Given the description of an element on the screen output the (x, y) to click on. 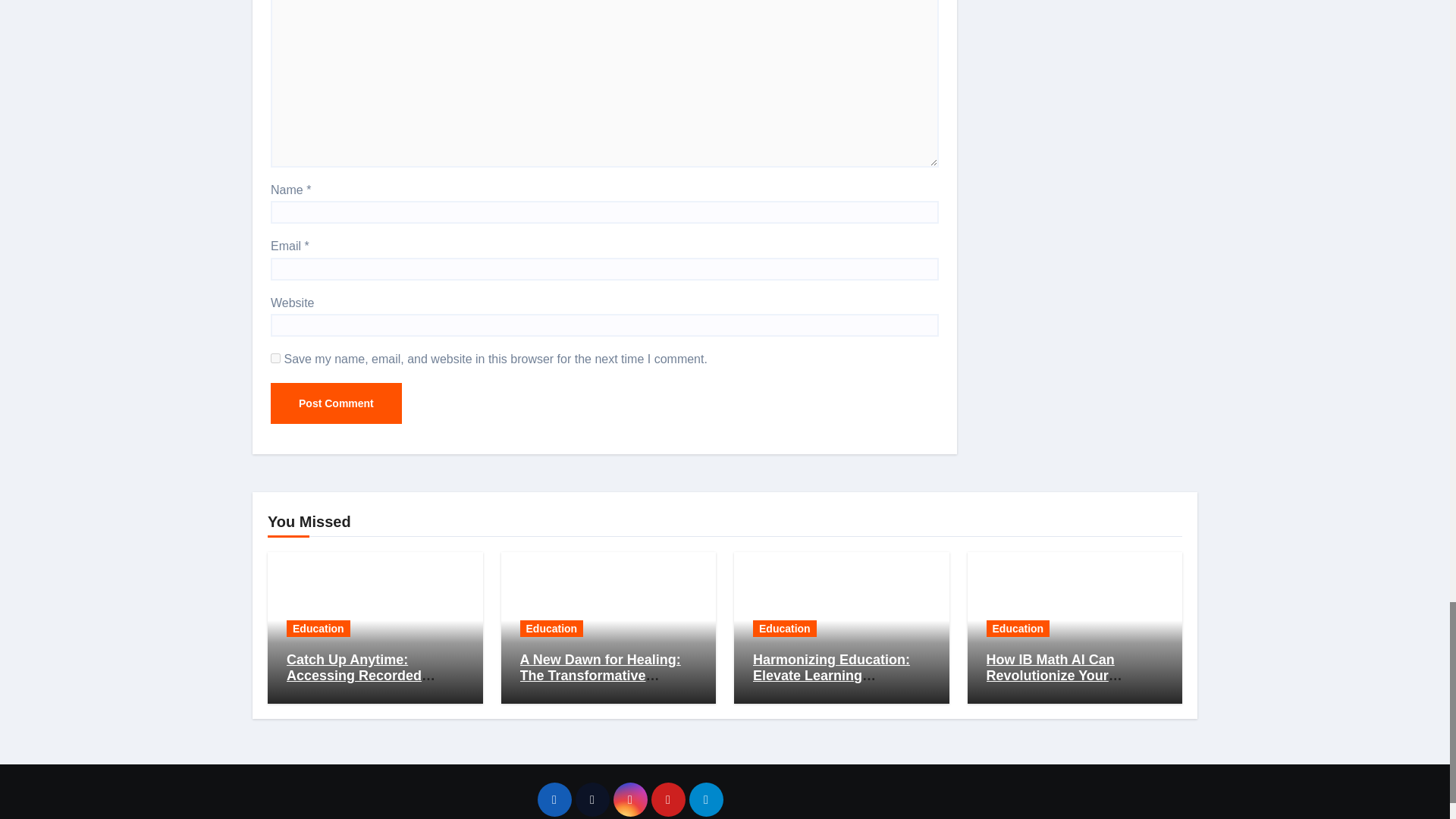
yes (275, 357)
Post Comment (335, 403)
